Given the description of an element on the screen output the (x, y) to click on. 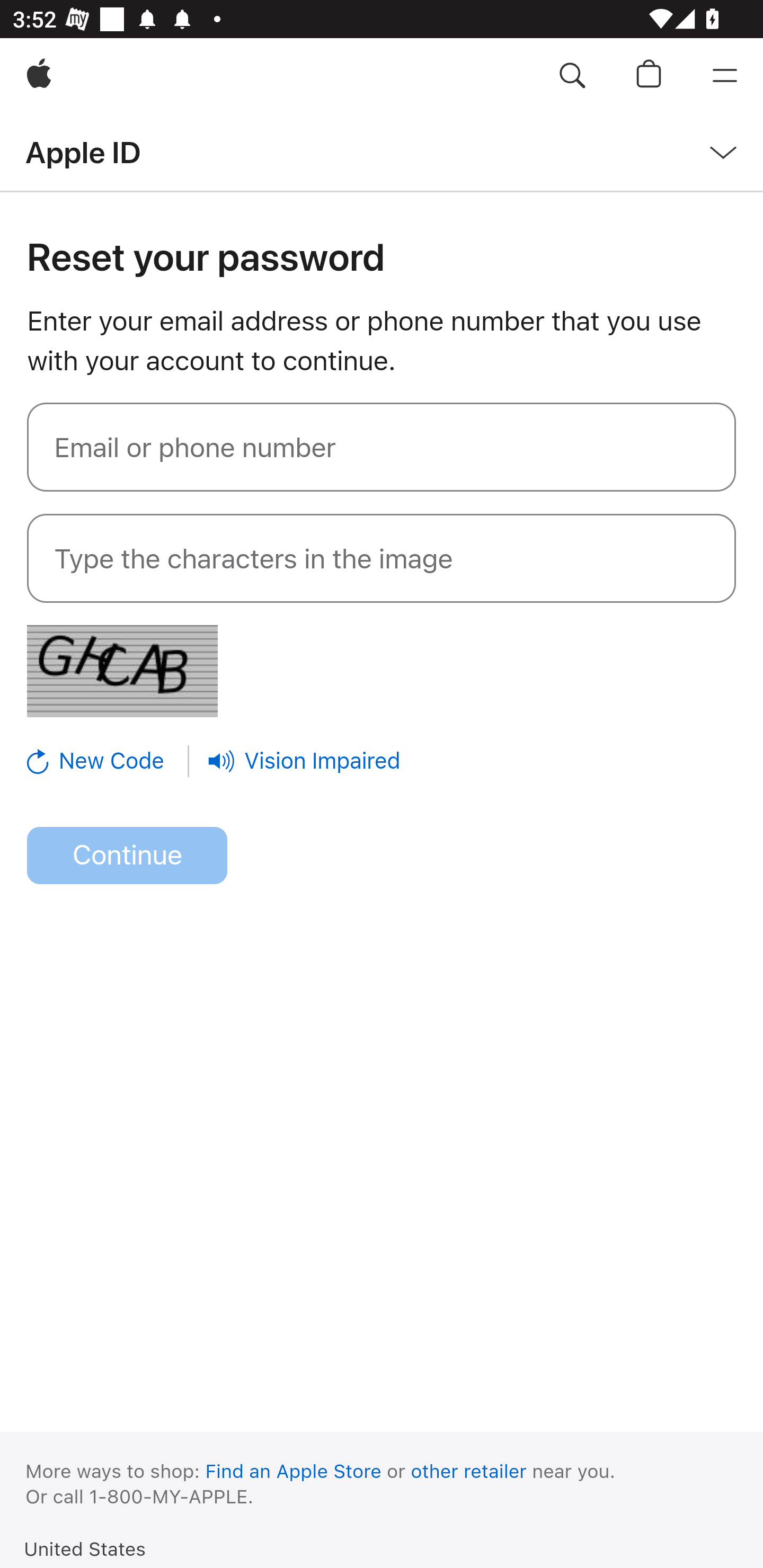
Apple (38, 75)
Search apple.com (572, 75)
Shopping Bag (648, 75)
Menu (724, 75)
Apple ID (83, 151)
 New Code (108, 760)
 Vision Impaired (304, 760)
Continue (126, 855)
Find an Apple Store (293, 1470)
other retailer (468, 1470)
United States (84, 1548)
